Given the description of an element on the screen output the (x, y) to click on. 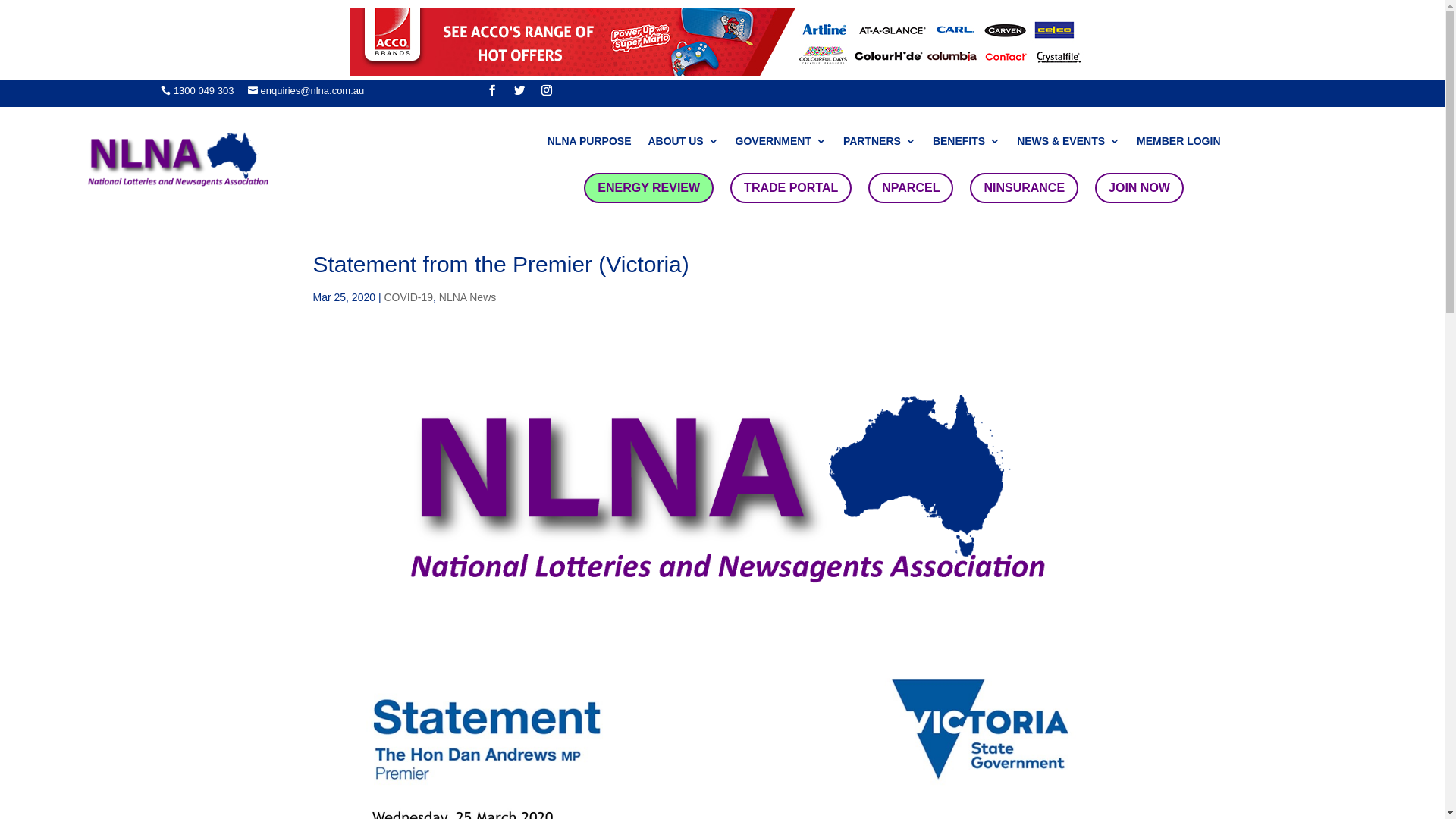
TRADE PORTAL Element type: text (790, 187)
GOVERNMENT Element type: text (780, 143)
PARTNERS Element type: text (879, 143)
COVID-19 Element type: text (408, 297)
NPARCEL Element type: text (910, 187)
Final_Logo_approved Element type: hover (176, 158)
ENERGY REVIEW Element type: text (648, 187)
MEMBER LOGIN Element type: text (1178, 143)
NEWS & EVENTS Element type: text (1068, 143)
enquiries@nlna.com.au Element type: text (306, 90)
1300 049 303 Element type: text (197, 90)
NLNA News Element type: text (467, 297)
ABOUT US Element type: text (682, 143)
JOIN NOW Element type: text (1139, 187)
NINSURANCE Element type: text (1023, 187)
Follow on Facebook Element type: hover (491, 89)
NLNA PURPOSE Element type: text (589, 143)
Follow on Twitter Element type: hover (519, 89)
BENEFITS Element type: text (966, 143)
Follow on Instagram Element type: hover (546, 89)
